Given the description of an element on the screen output the (x, y) to click on. 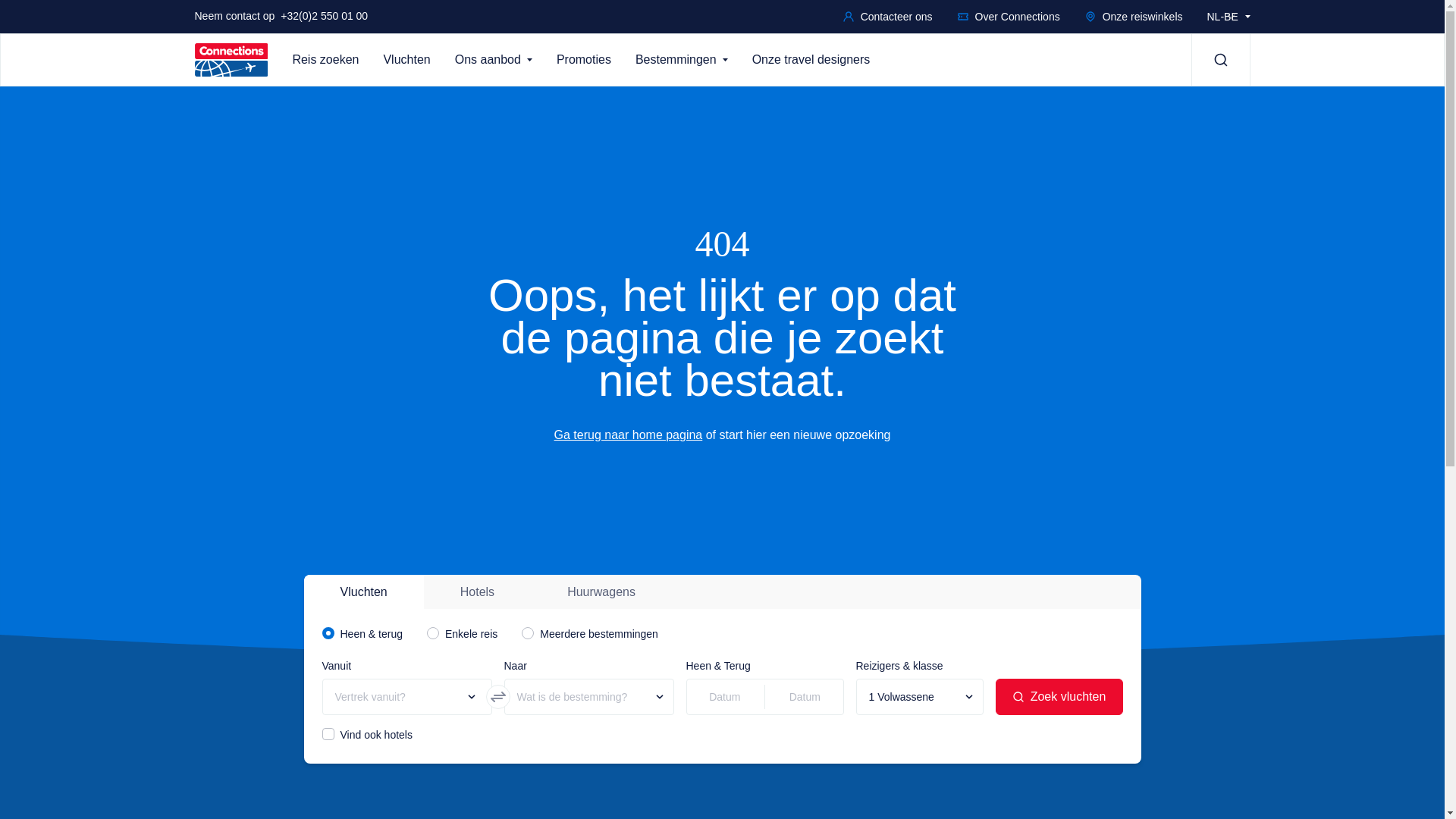
+32(0)2 550 01 00 Element type: text (323, 15)
Onze reiswinkels Element type: text (1133, 16)
Vertrek vanuit? Element type: text (406, 696)
Huurwagens Element type: text (600, 591)
Vluchten Element type: text (363, 591)
1 Volwassene Element type: text (918, 696)
Promoties Element type: text (589, 59)
Vluchten Element type: text (412, 59)
Ga terug naar home pagina Element type: text (628, 435)
Contacteer ons Element type: text (887, 16)
Datum Element type: text (804, 696)
Zoek vluchten Element type: text (1058, 696)
Wat is de bestemming? Element type: text (588, 696)
Over Connections Element type: text (1008, 16)
Hotels Element type: text (476, 591)
Onze travel designers Element type: text (817, 59)
Datum Element type: text (725, 696)
Reis zoeken Element type: text (330, 59)
